Given the description of an element on the screen output the (x, y) to click on. 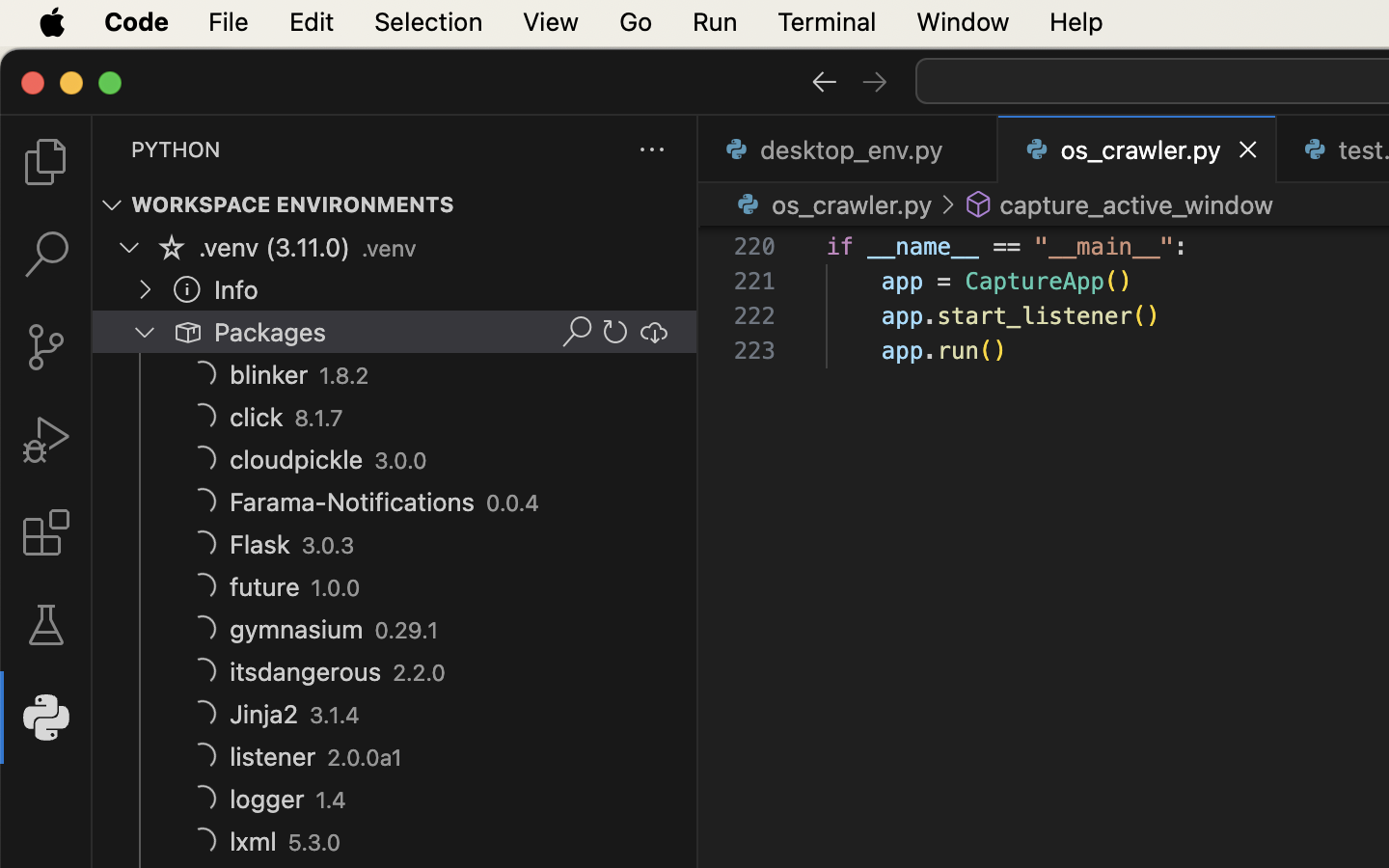
os_crawler.py  Element type: AXGroup (831, 204)
0.29.1 Element type: AXStaticText (406, 630)
.venv (3.11.0) Element type: AXStaticText (274, 247)
0  Element type: AXRadioButton (46, 532)
 Element type: AXStaticText (978, 204)
